Given the description of an element on the screen output the (x, y) to click on. 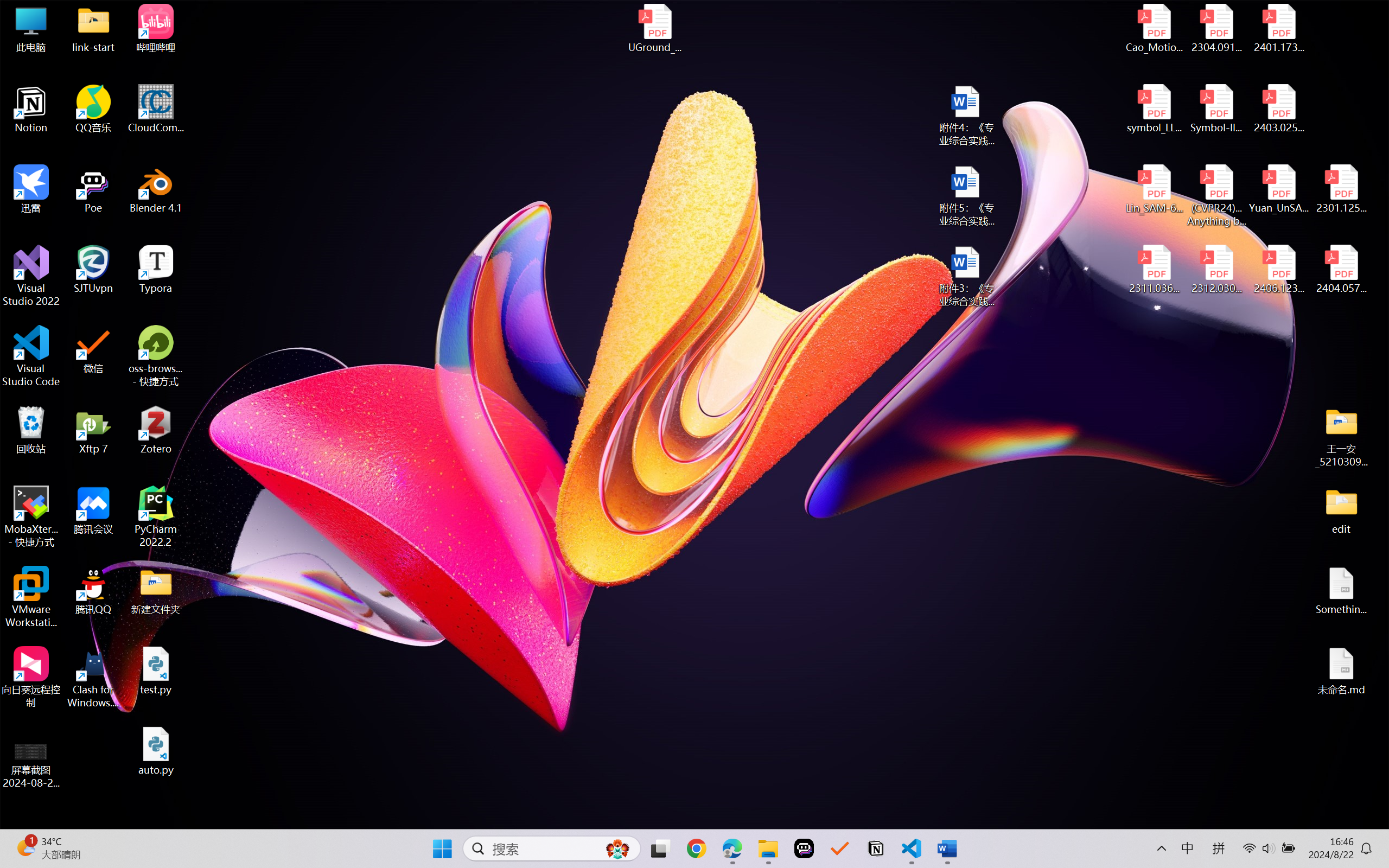
Google Chrome (696, 848)
2403.02502v1.pdf (1278, 109)
symbol_LLM.pdf (1154, 109)
Something.md (1340, 591)
Typora (156, 269)
auto.py (156, 751)
2401.17399v1.pdf (1278, 28)
Visual Studio 2022 (31, 276)
